Given the description of an element on the screen output the (x, y) to click on. 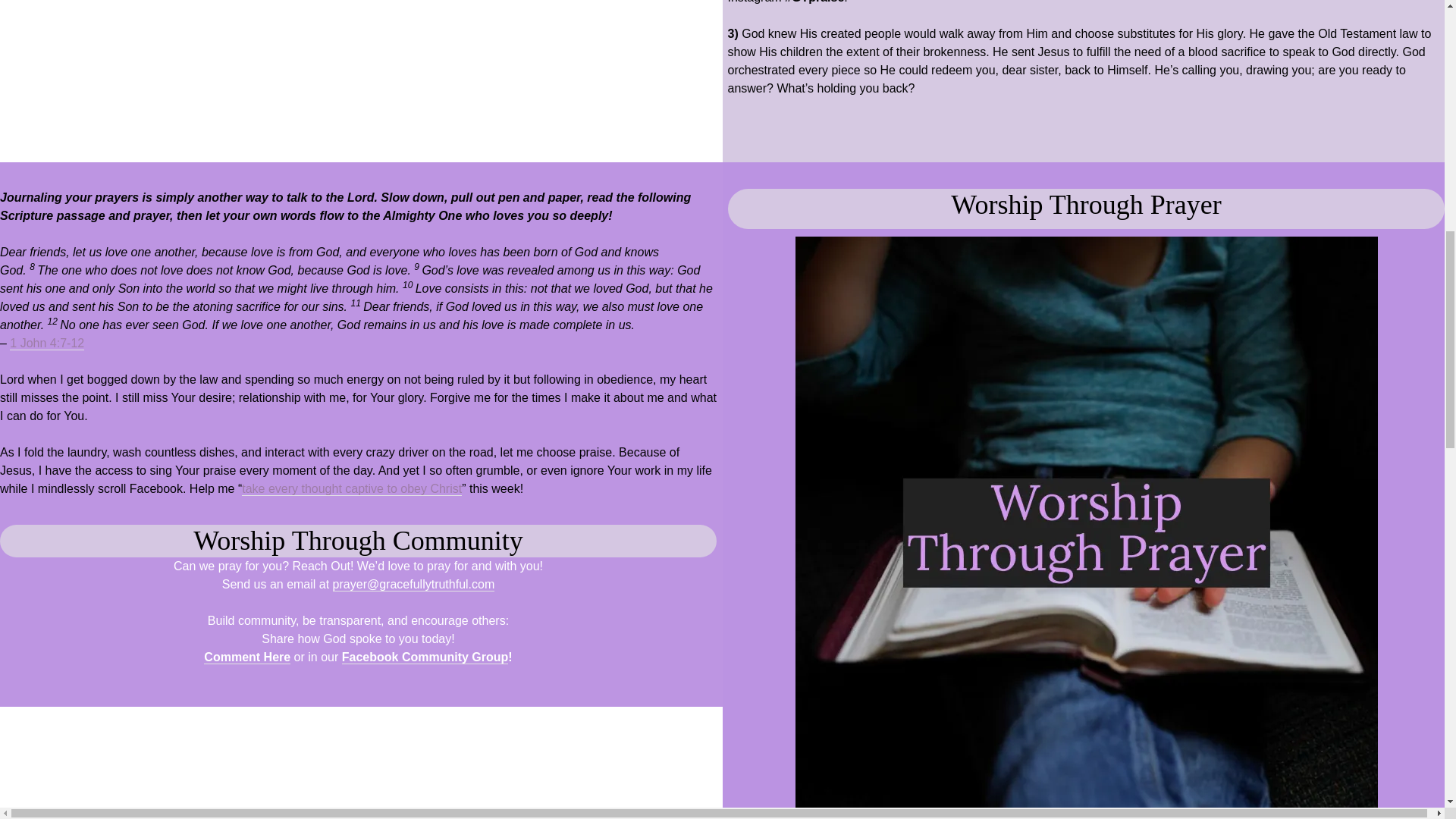
Comment Here (246, 657)
1 John 4:7-12 (47, 343)
take every thought captive to obey Christ (351, 489)
Facebook Community Group (425, 657)
